Given the description of an element on the screen output the (x, y) to click on. 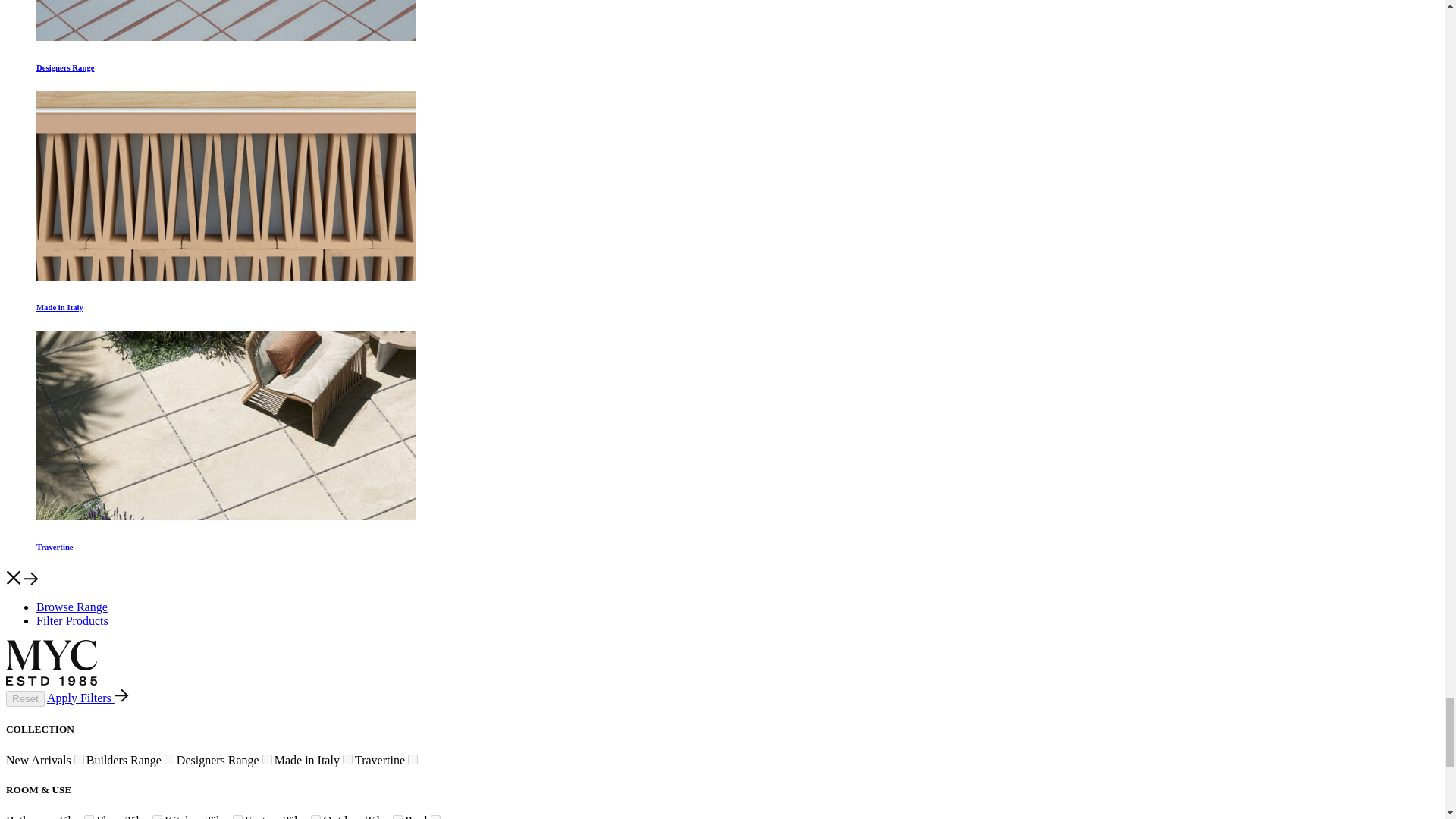
147 (79, 759)
151 (156, 816)
138493 (412, 759)
150 (237, 816)
154 (315, 816)
153 (435, 816)
152 (398, 816)
149 (89, 816)
145 (169, 759)
146 (267, 759)
148 (347, 759)
